Given the description of an element on the screen output the (x, y) to click on. 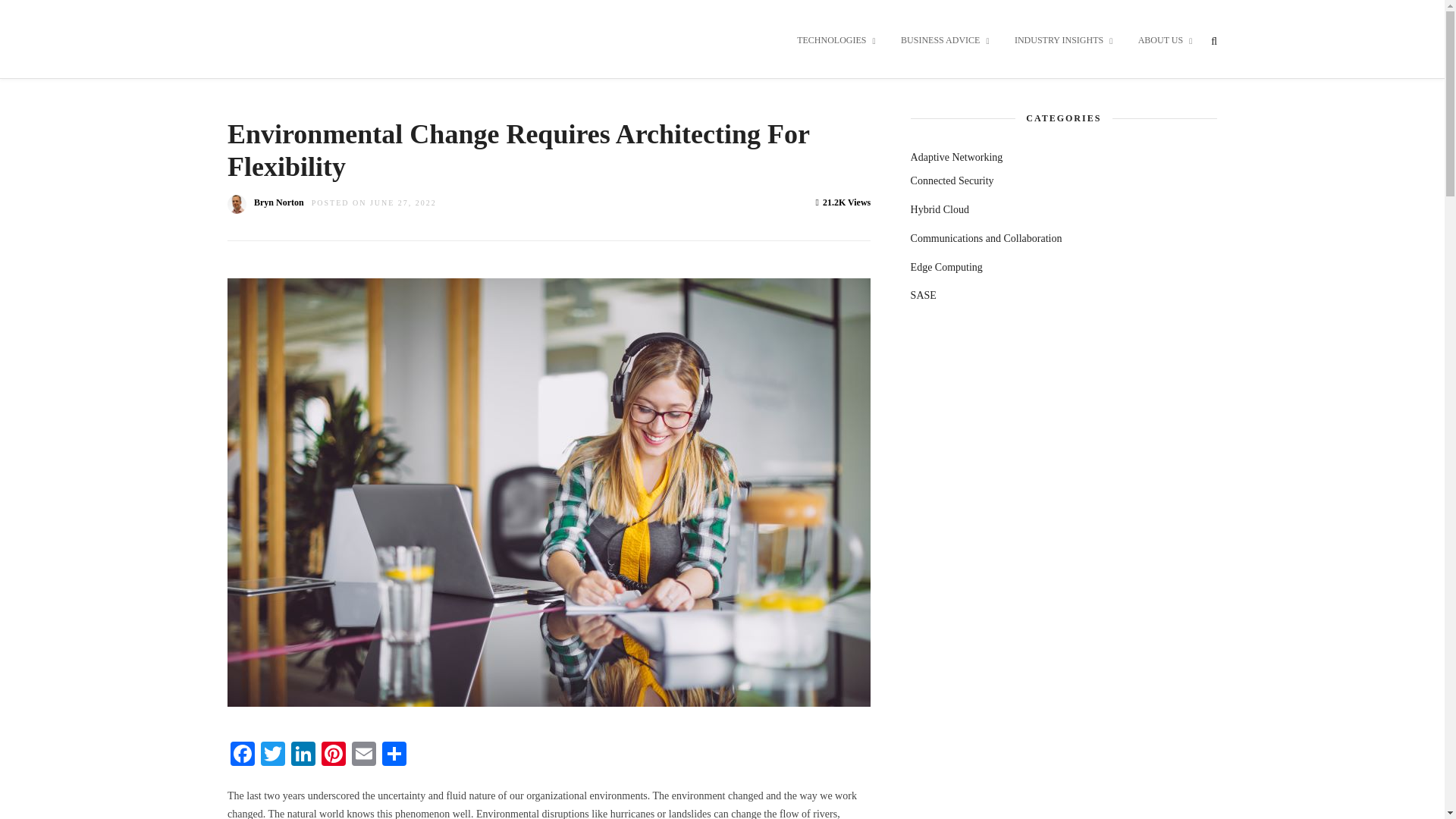
LinkedIn (303, 755)
Facebook (242, 755)
Pinterest (333, 755)
Twitter (272, 755)
Email (363, 755)
TECHNOLOGIES (836, 40)
